Given the description of an element on the screen output the (x, y) to click on. 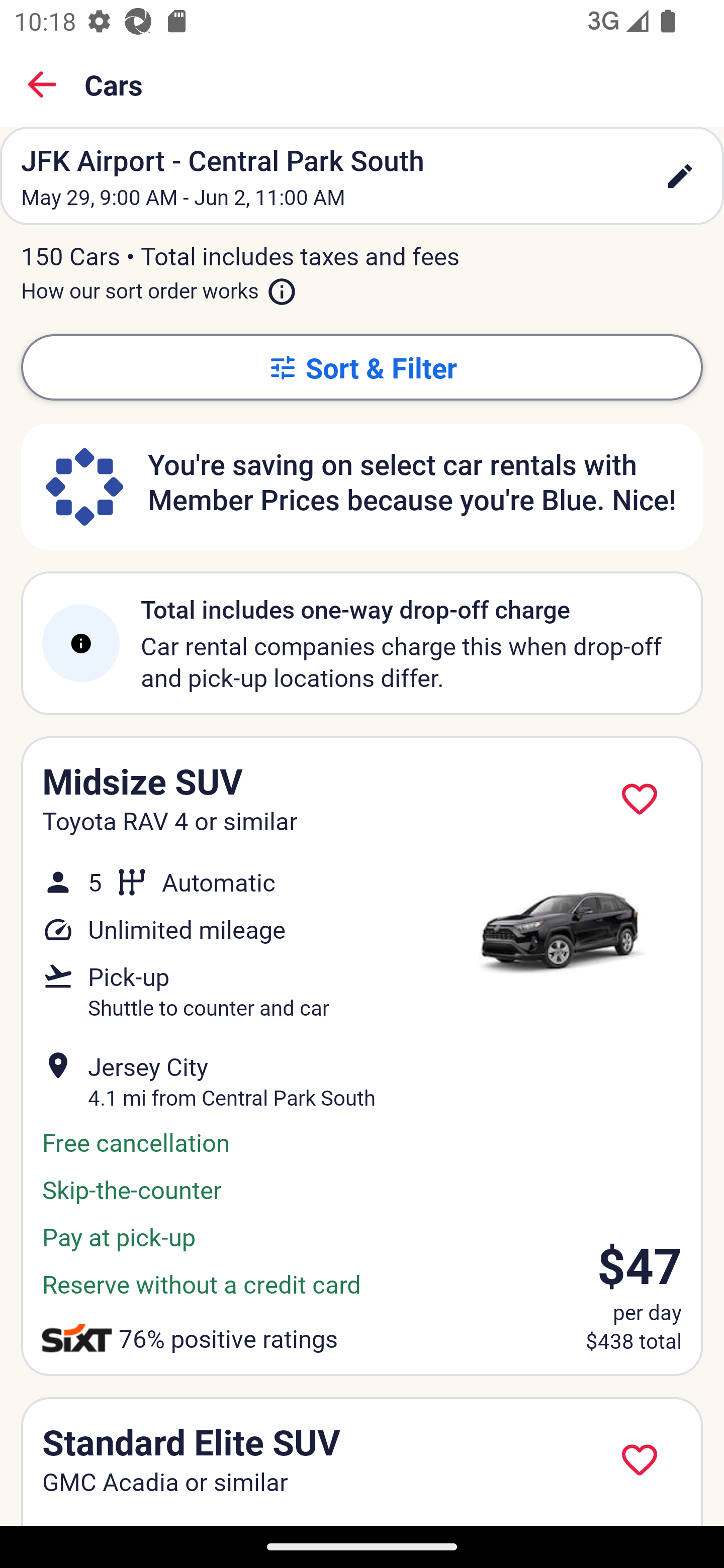
Back (42, 84)
edit (679, 175)
How our sort order works (158, 286)
Sort & Filter (361, 366)
